Given the description of an element on the screen output the (x, y) to click on. 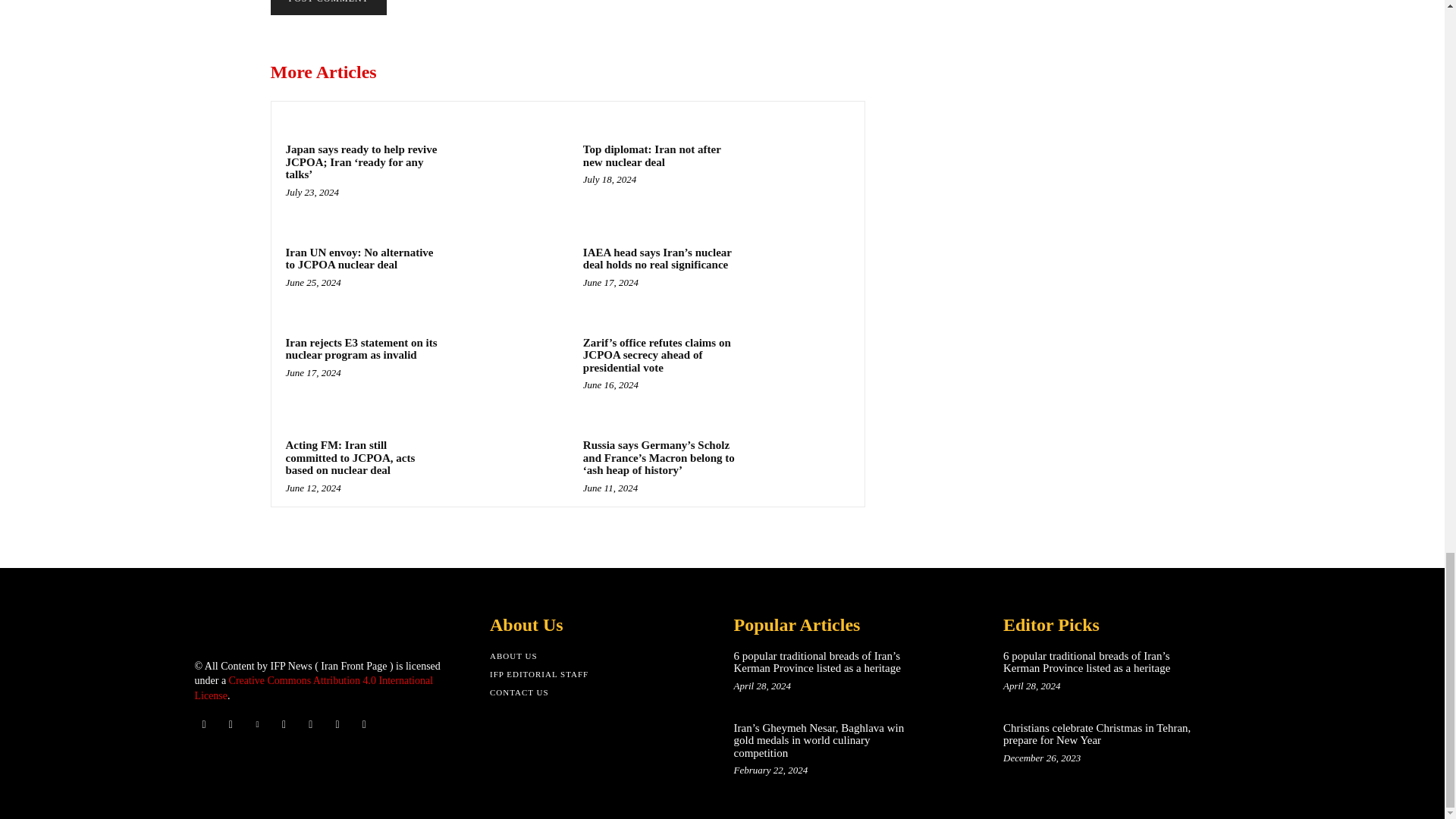
Post Comment (327, 7)
